Given the description of an element on the screen output the (x, y) to click on. 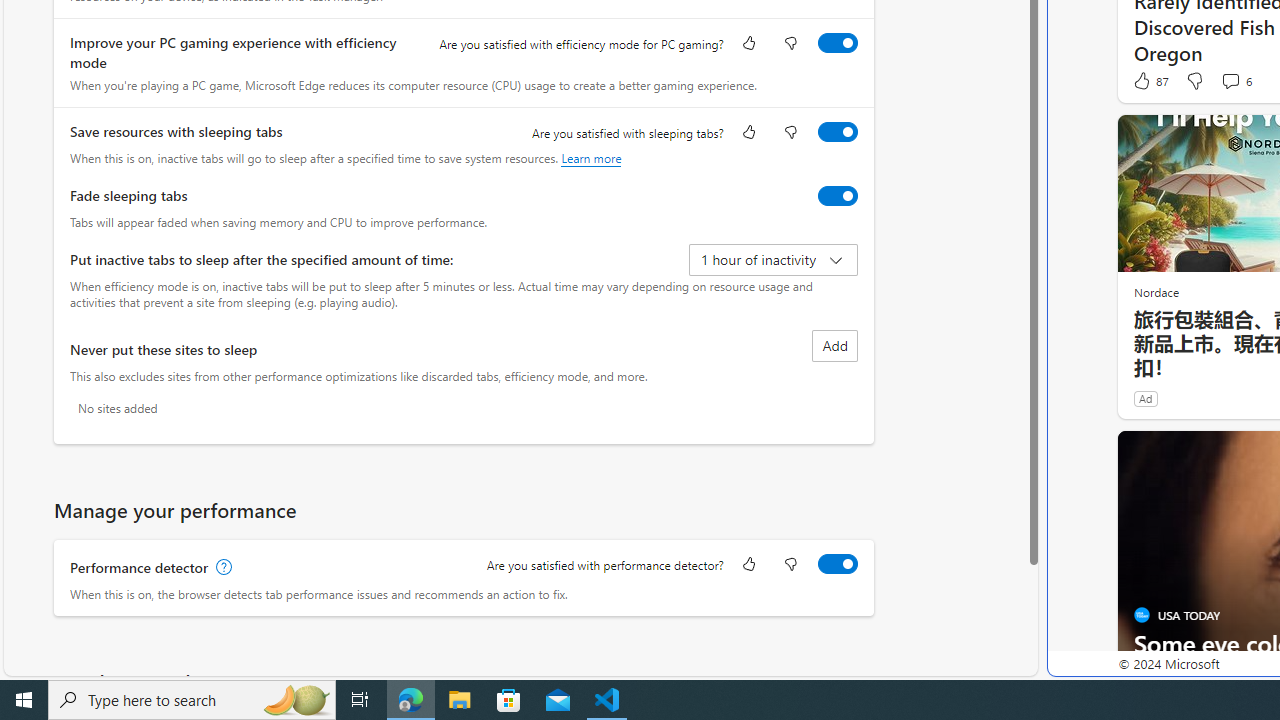
Performance detector (837, 563)
Nordace (1155, 291)
87 Like (1149, 80)
Ad (1145, 398)
View comments 6 Comment (1235, 80)
Dislike (1194, 80)
Fade sleeping tabs (837, 195)
Learn more (591, 158)
Add site to never put these sites to sleep list (834, 345)
Like (748, 565)
Performance detector, learn more (221, 567)
Save resources with sleeping tabs (837, 131)
Improve your PC gaming experience with efficiency mode (837, 43)
